Given the description of an element on the screen output the (x, y) to click on. 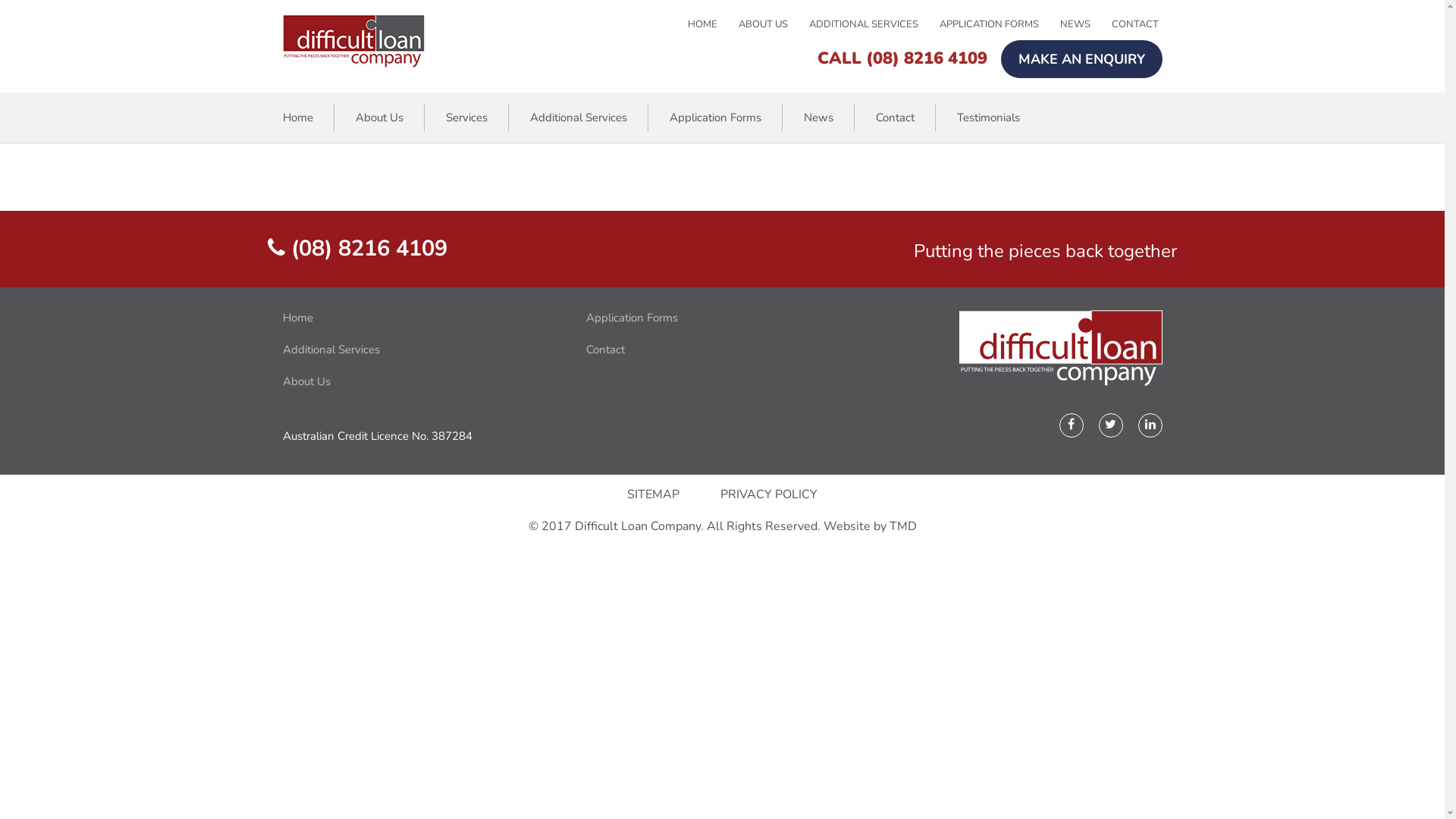
Contact Element type: text (717, 349)
Website by TMD Element type: text (869, 525)
MAKE AN ENQUIRY Element type: text (1081, 59)
About Us Element type: text (378, 117)
HOME Element type: text (712, 23)
SITEMAP Element type: text (653, 494)
(08) 8216 4109 Element type: text (356, 248)
ABOUT US Element type: text (773, 23)
Application Forms Element type: text (714, 117)
Services Element type: text (466, 117)
Contact Element type: text (894, 117)
CALL (08) 8216 4109 Element type: text (901, 58)
Additional Services Element type: text (577, 117)
Home Element type: text (414, 318)
NEWS Element type: text (1085, 23)
Home Element type: text (307, 117)
PRIVACY POLICY Element type: text (768, 494)
News Element type: text (818, 117)
CONTACT Element type: text (1134, 23)
Application Forms Element type: text (717, 318)
About Us Element type: text (414, 381)
Testimonials Element type: text (977, 117)
APPLICATION FORMS Element type: text (998, 23)
ADDITIONAL SERVICES Element type: text (873, 23)
Additional Services Element type: text (414, 349)
